Given the description of an element on the screen output the (x, y) to click on. 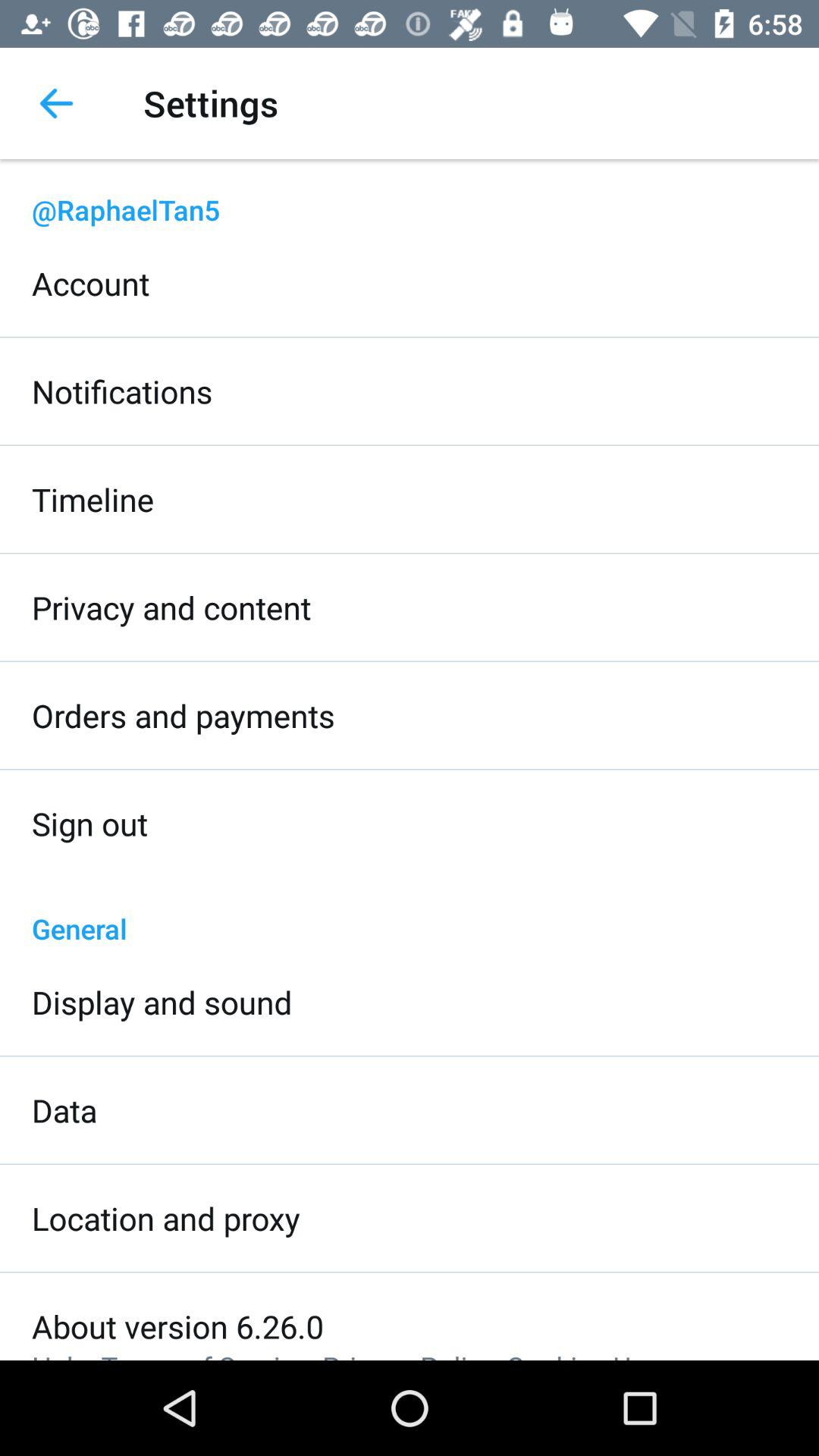
open the item below privacy and content icon (182, 715)
